Given the description of an element on the screen output the (x, y) to click on. 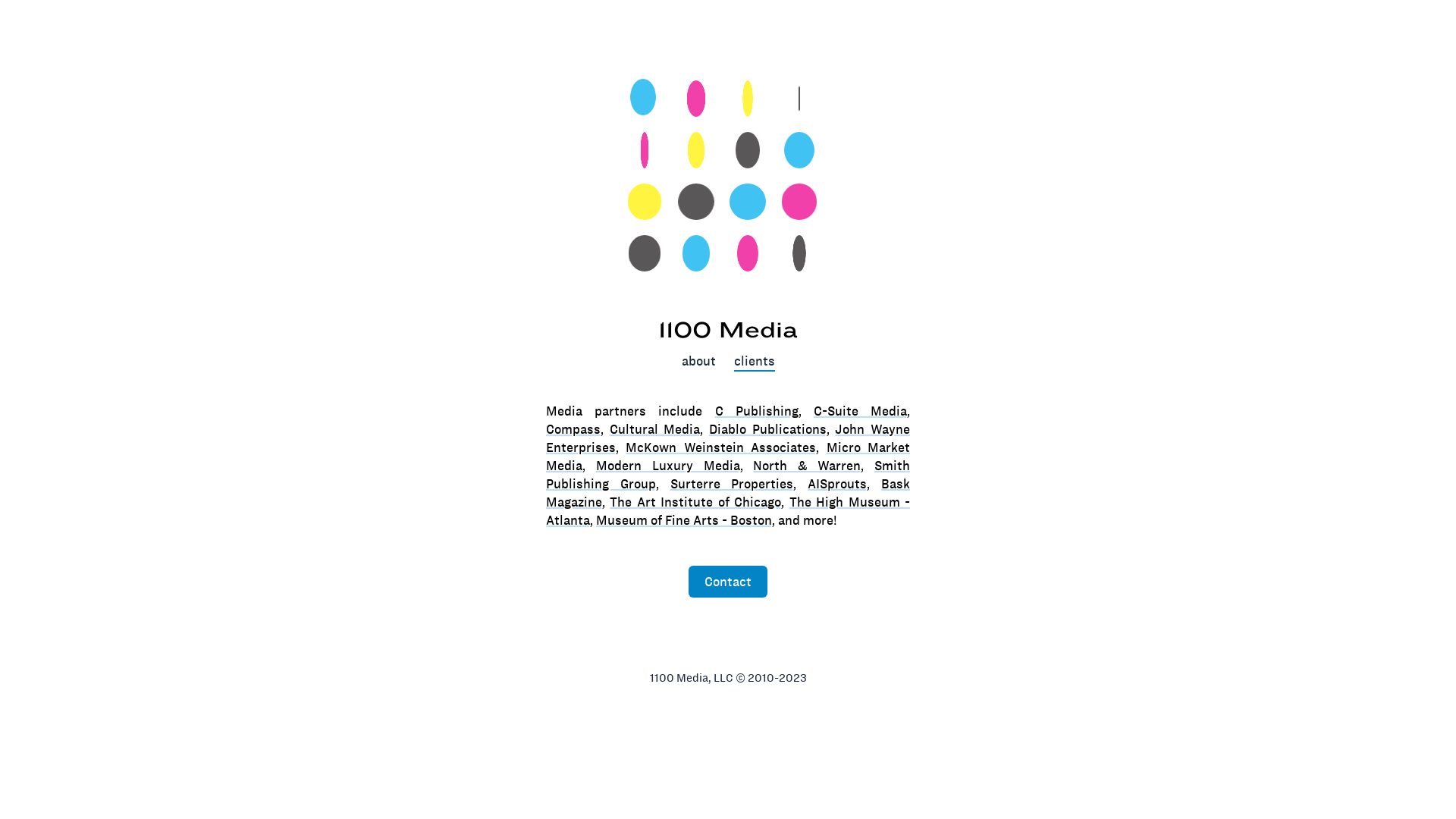
McKown Weinstein Associates, Element type: text (722, 447)
Micro Market Media, Element type: text (728, 456)
Bask Magazine, Element type: text (728, 492)
C Publishing, Element type: text (757, 410)
C-Suite Media, Element type: text (861, 410)
The High Museum - Atlanta, Element type: text (728, 511)
Contact Element type: text (727, 581)
Modern Luxury Media, Element type: text (669, 465)
Cultural Media, Element type: text (656, 429)
The Art Institute of Chicago, Element type: text (696, 501)
John Wayne Enterprises, Element type: text (728, 438)
North & Warren, Element type: text (808, 465)
Compass, Element type: text (574, 429)
Museum of Fine Arts - Boston, Element type: text (685, 520)
Diablo Publications, Element type: text (769, 429)
AISprouts, Element type: text (838, 483)
about Element type: text (697, 361)
Surterre Properties, Element type: text (733, 483)
Smith Publishing Group, Element type: text (728, 474)
clients Element type: text (754, 361)
